Given the description of an element on the screen output the (x, y) to click on. 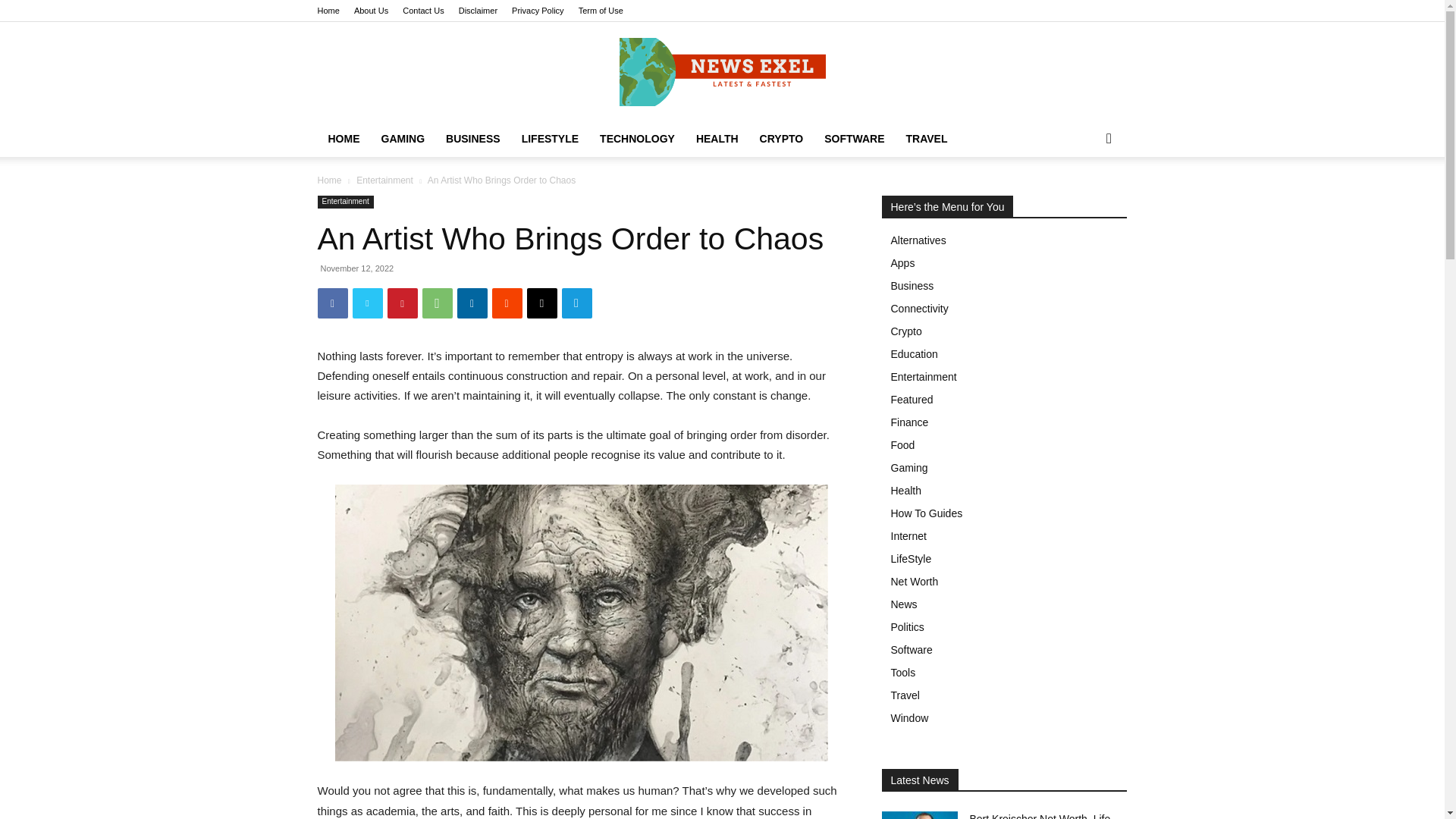
Disclaimer (477, 10)
Telegram (575, 303)
Contact Us (423, 10)
Email (540, 303)
Entertainment (344, 201)
CRYPTO (781, 138)
Search (1085, 199)
Twitter (366, 303)
GAMING (402, 138)
About Us (370, 10)
TRAVEL (926, 138)
Home (328, 180)
Home (328, 10)
Pinterest (401, 303)
SOFTWARE (854, 138)
